Given the description of an element on the screen output the (x, y) to click on. 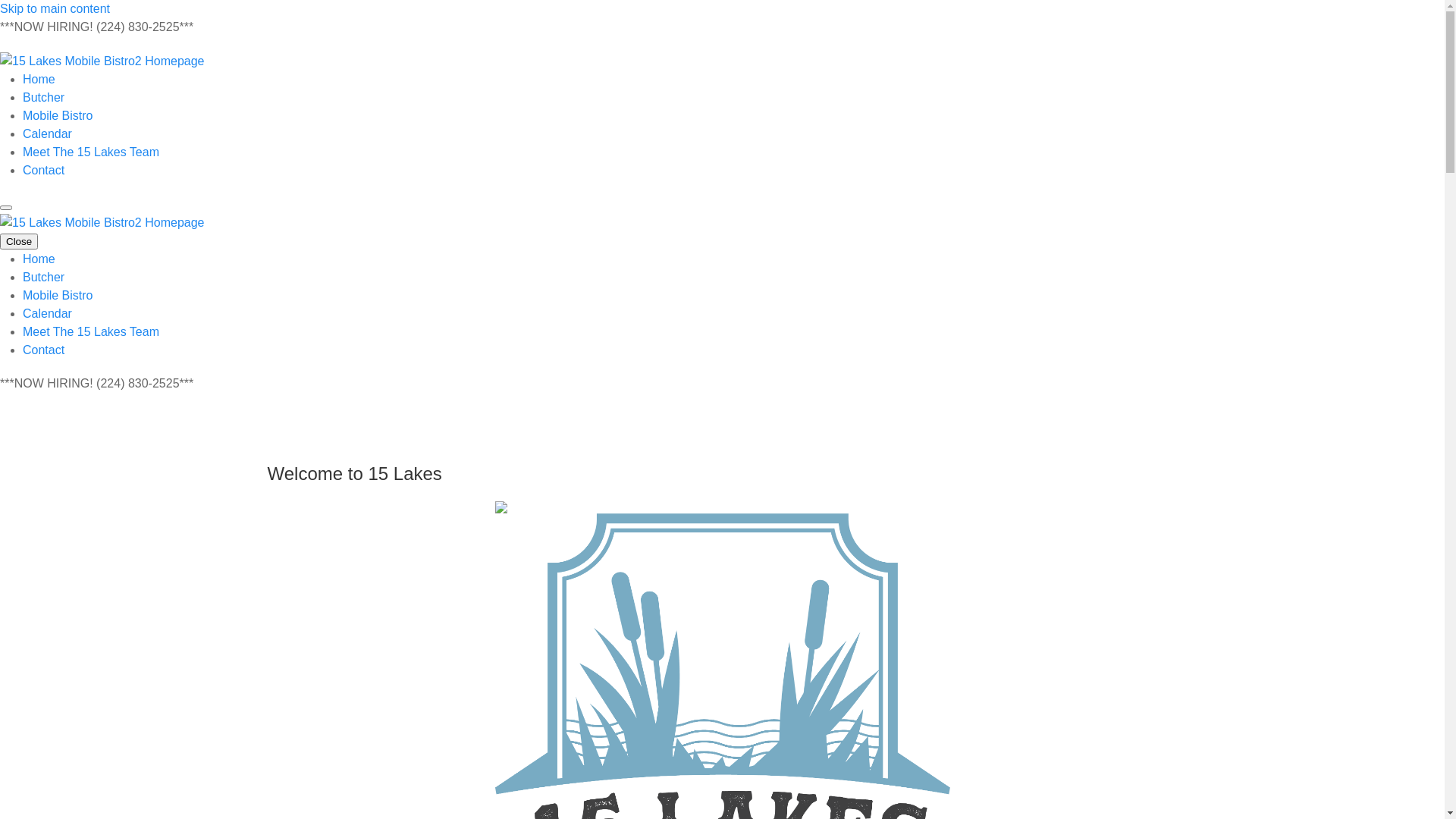
Home Element type: text (38, 78)
Close Element type: text (18, 241)
Contact Element type: text (43, 349)
Butcher Element type: text (43, 276)
Mobile Bistro Element type: text (57, 294)
Butcher Element type: text (43, 96)
Mobile Bistro Element type: text (57, 115)
Calendar Element type: text (47, 133)
Calendar Element type: text (47, 313)
Home Element type: text (38, 258)
Skip to main content Element type: text (54, 8)
Meet The 15 Lakes Team Element type: text (90, 331)
Meet The 15 Lakes Team Element type: text (90, 151)
Contact Element type: text (43, 169)
